Given the description of an element on the screen output the (x, y) to click on. 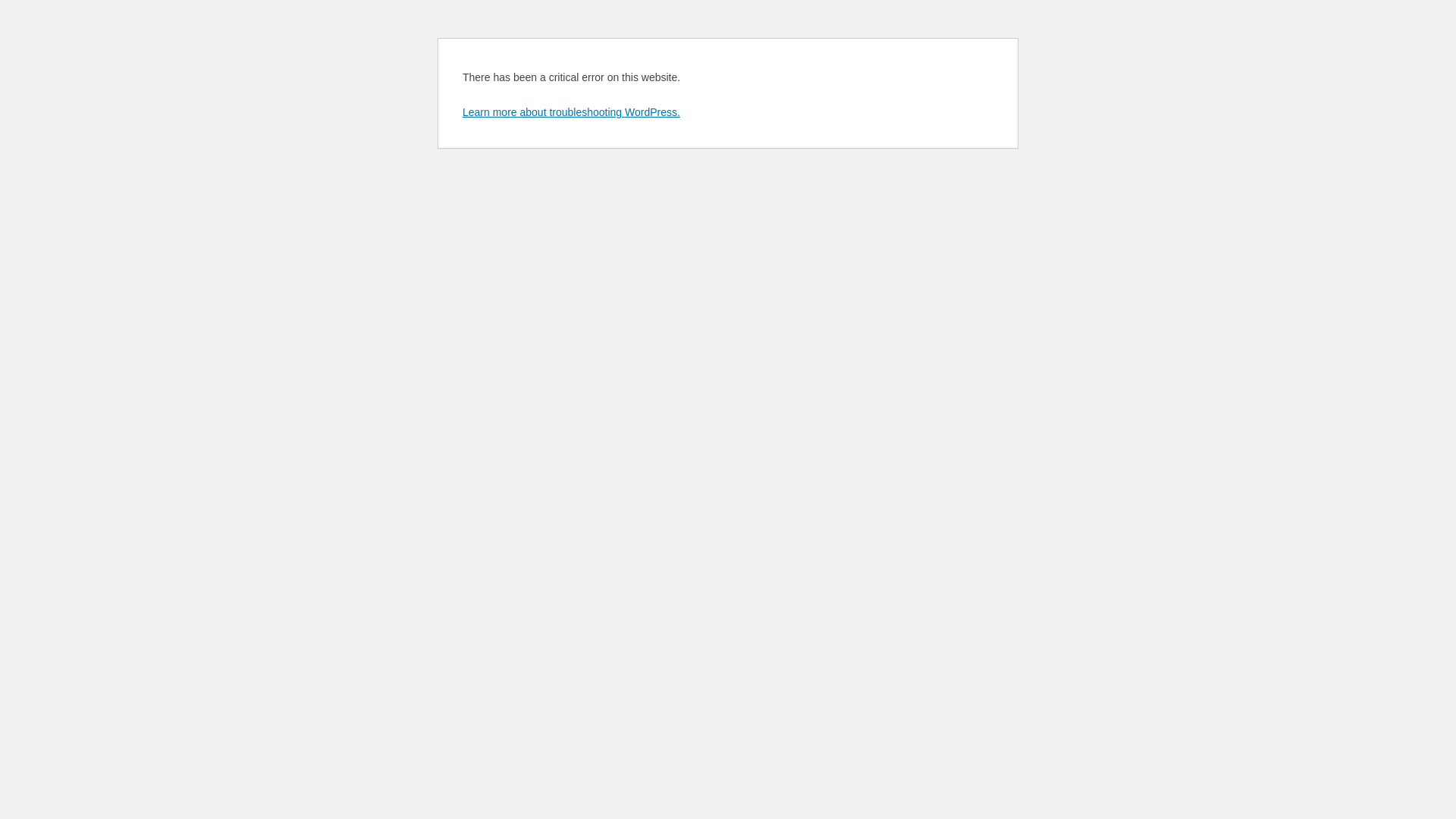
Learn more about troubleshooting WordPress. Element type: text (571, 112)
